Given the description of an element on the screen output the (x, y) to click on. 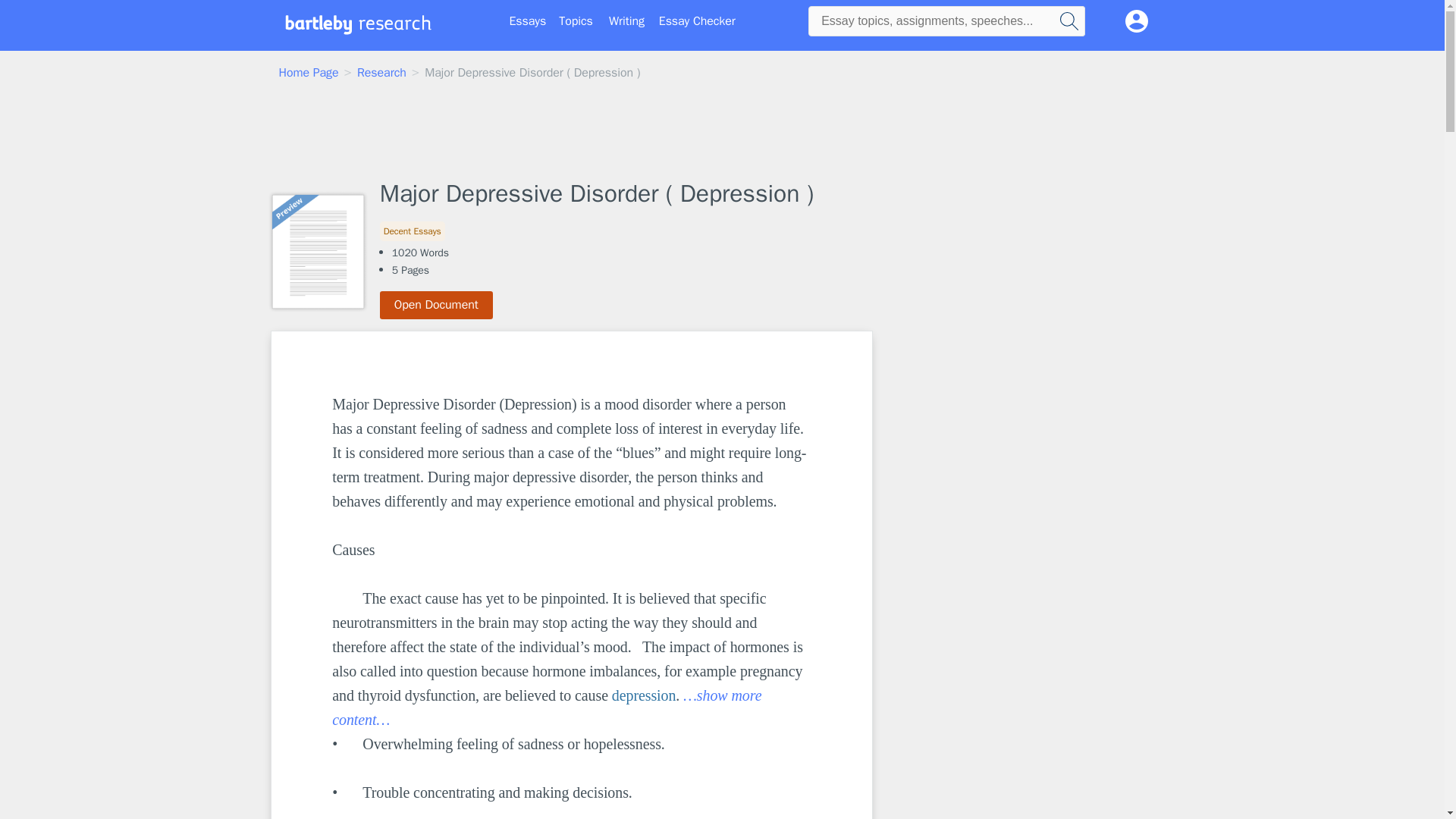
Essay Checker (697, 20)
Home Page (309, 72)
Research (381, 72)
depression (644, 695)
Essays (528, 20)
Writing (626, 20)
Open Document (436, 305)
Topics (575, 20)
